Given the description of an element on the screen output the (x, y) to click on. 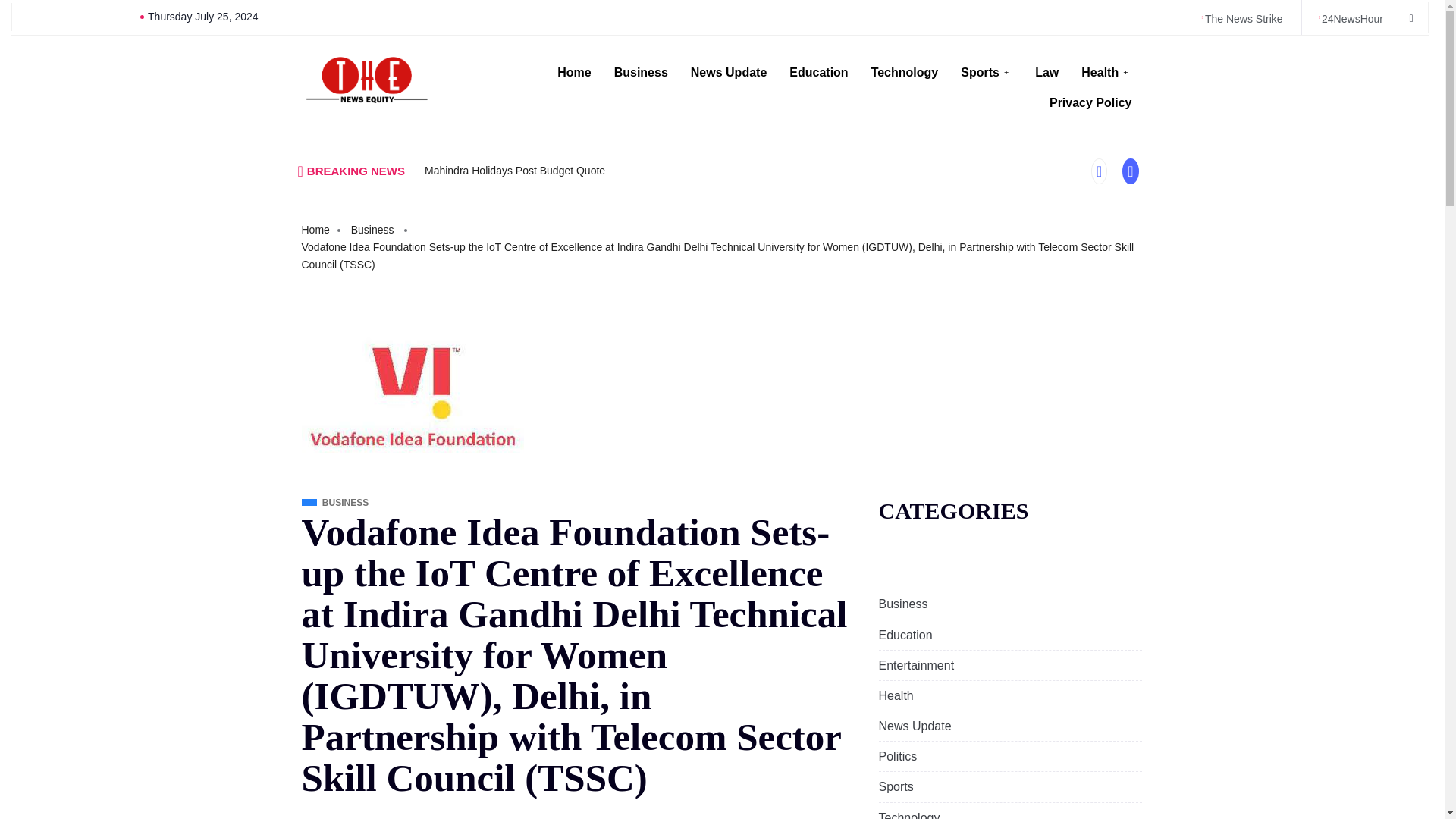
Health (894, 695)
Home (574, 72)
Home (315, 230)
News Update (913, 726)
Education (904, 635)
24NewsHour (1350, 19)
News Update (728, 72)
Education (818, 72)
Business (372, 230)
Mahindra Holidays Post Budget Quote (515, 170)
Business (640, 72)
Entertainment (915, 665)
Privacy Policy (1090, 102)
Sports (986, 72)
Politics (897, 756)
